Given the description of an element on the screen output the (x, y) to click on. 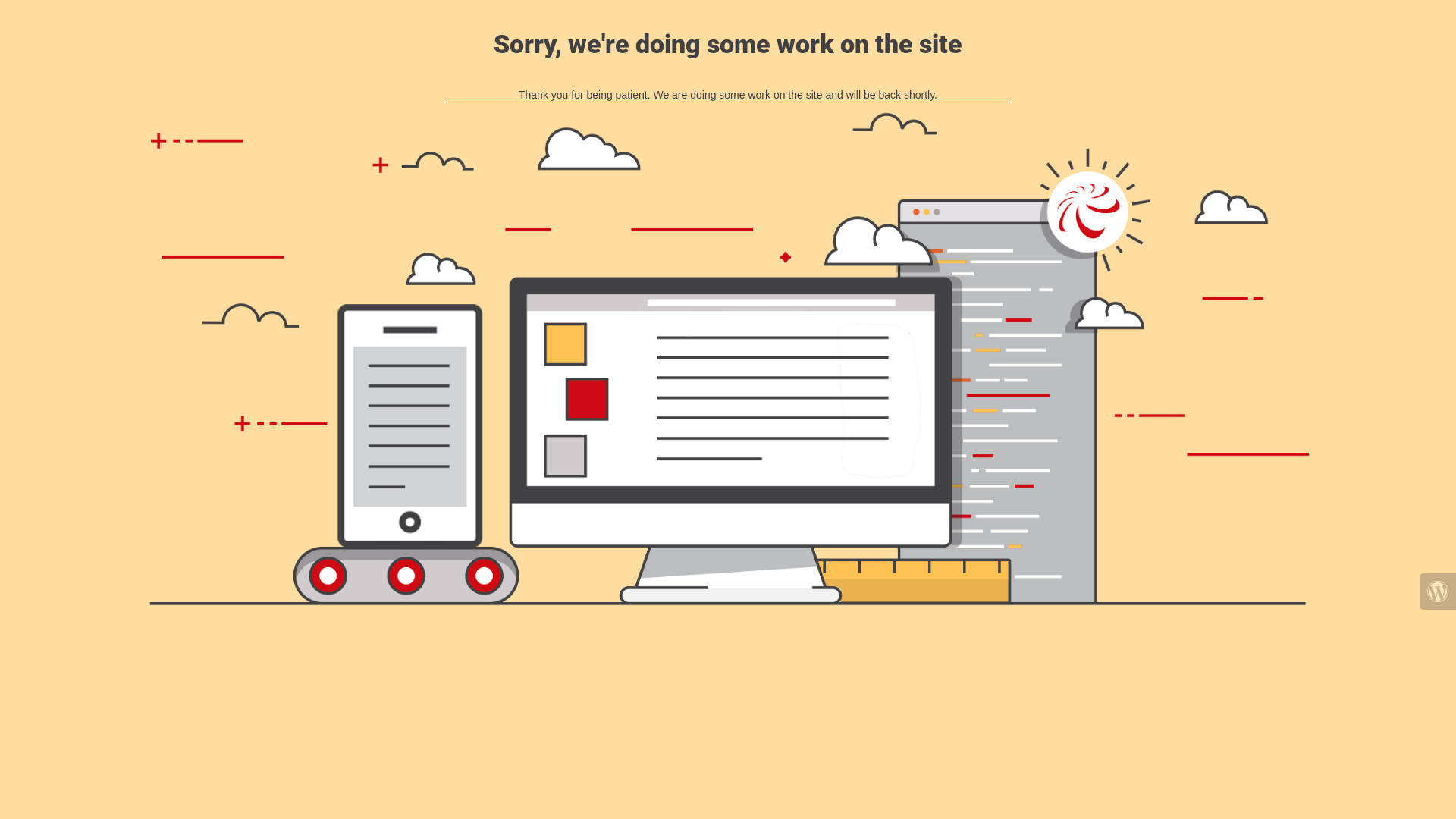
Site is Under Construction Element type: hover (727, 358)
